Given the description of an element on the screen output the (x, y) to click on. 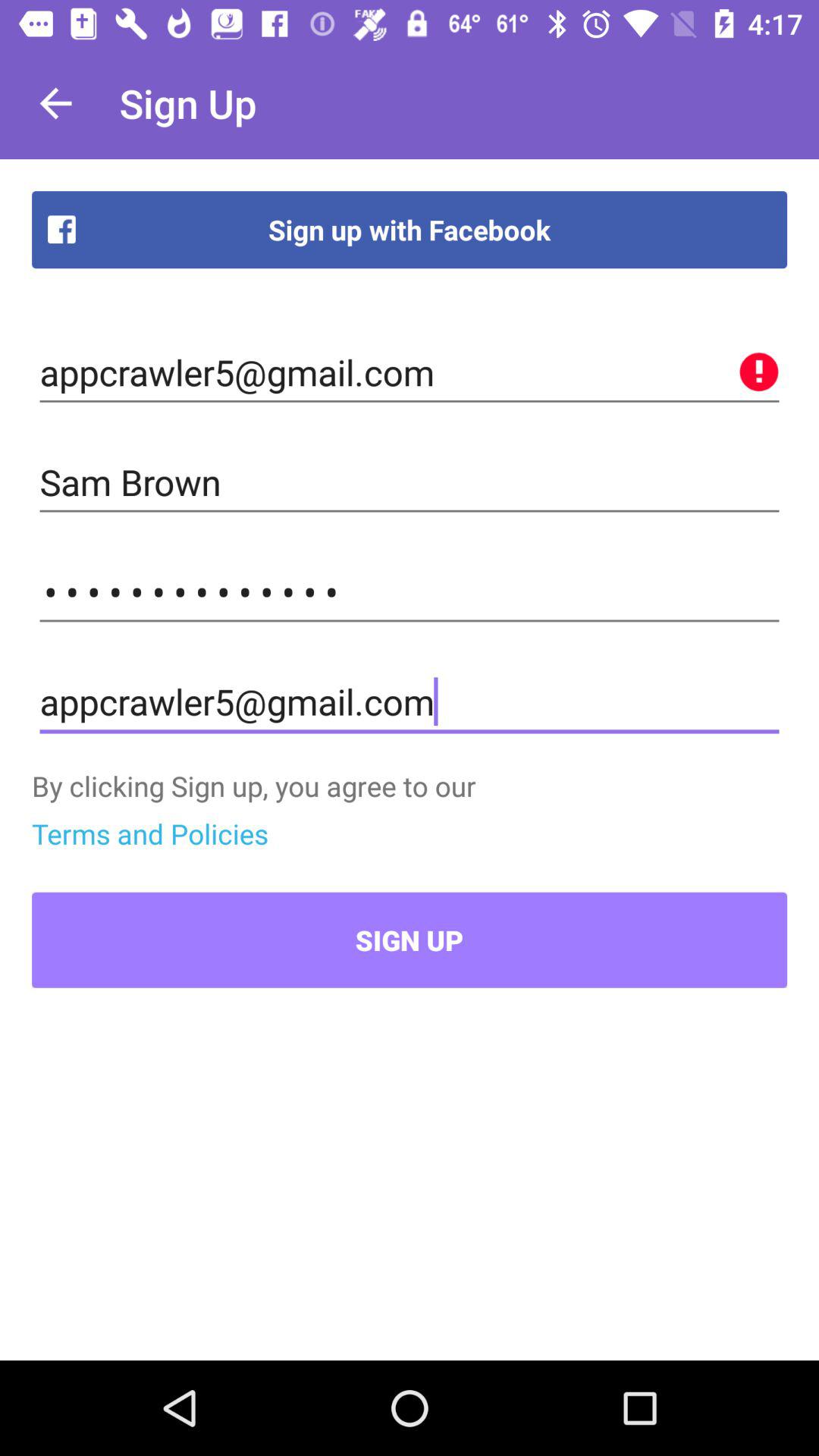
choose the icon to the left of the sign up app (55, 103)
